Given the description of an element on the screen output the (x, y) to click on. 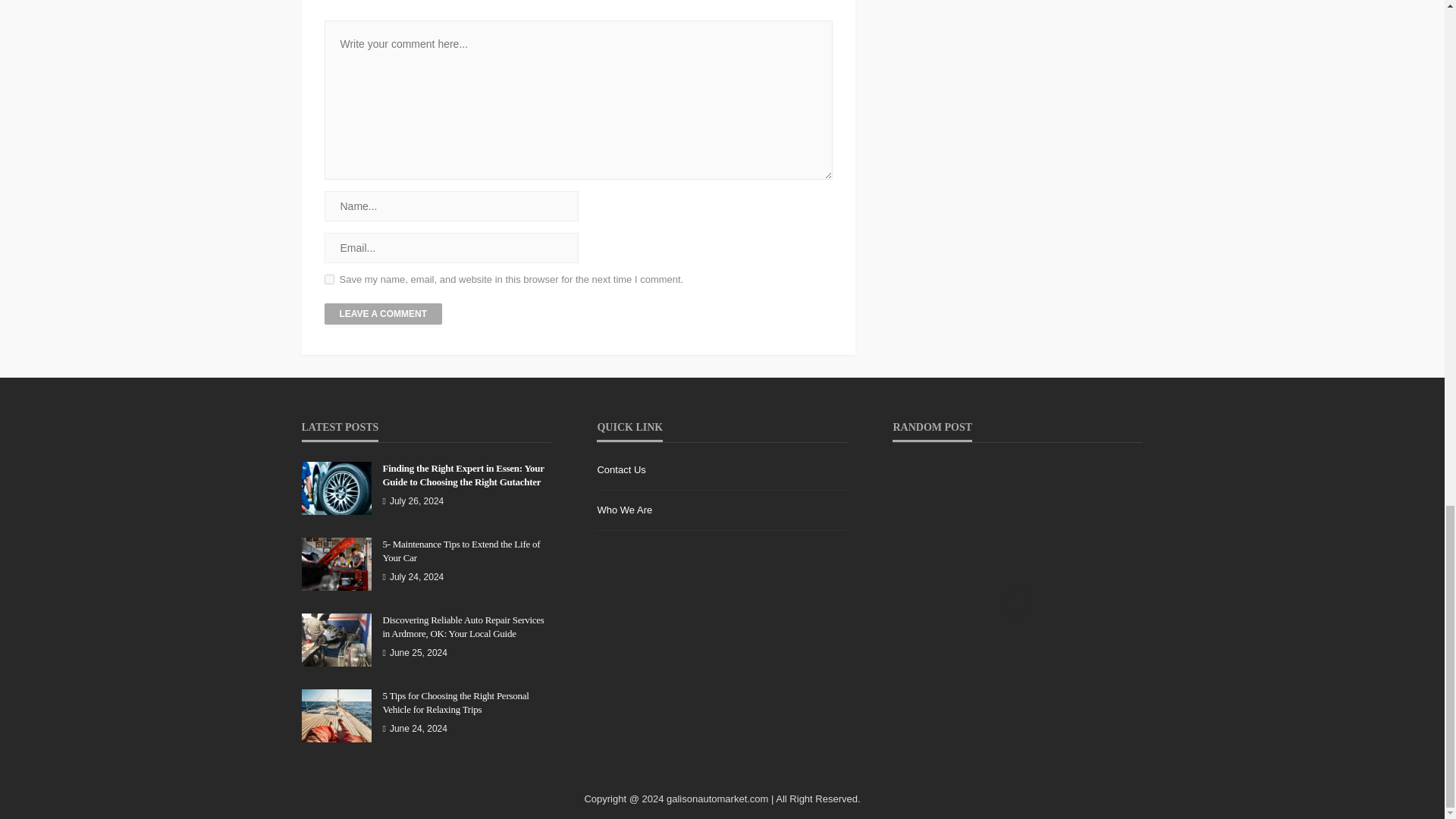
Leave a comment (383, 313)
Leave a comment (383, 313)
yes (329, 279)
